Given the description of an element on the screen output the (x, y) to click on. 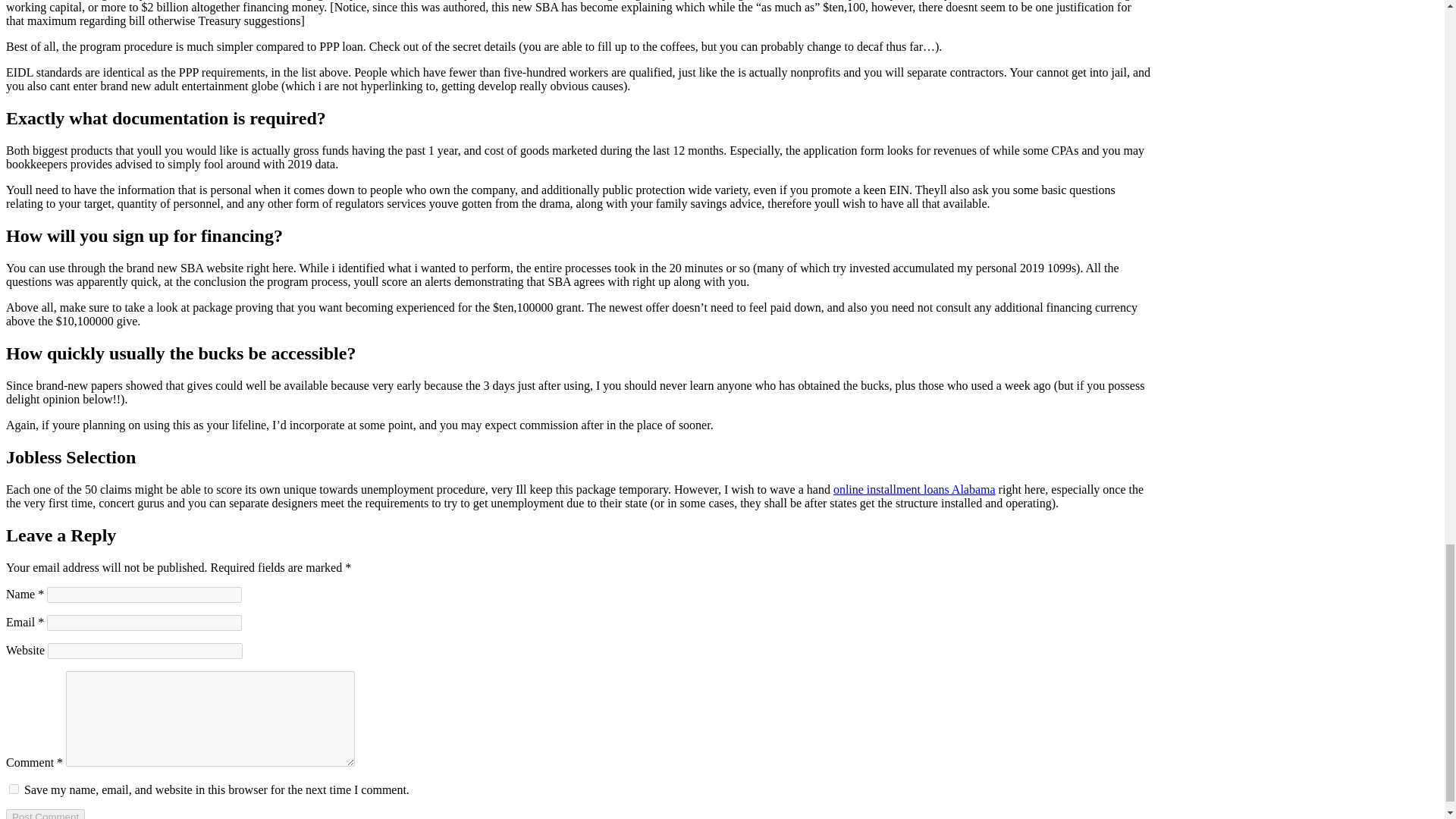
yes (13, 787)
online installment loans Alabama (913, 489)
